Given the description of an element on the screen output the (x, y) to click on. 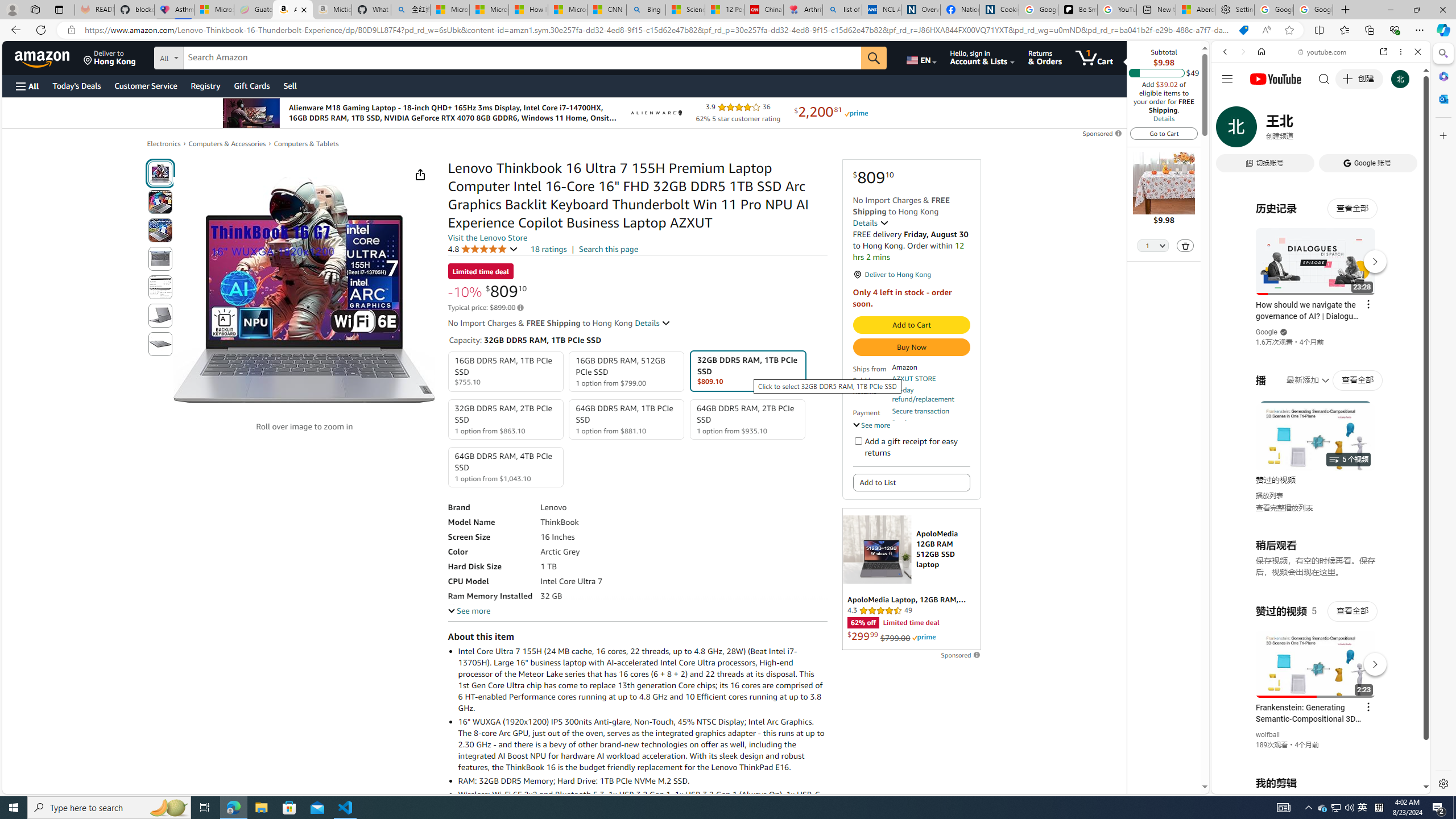
youtube.com (1322, 51)
Search Amazon (522, 57)
Google (1266, 331)
Learn more about Amazon pricing and savings (520, 307)
64GB DDR5 RAM, 1TB PCIe SSD 1 option from $881.10 (626, 418)
RAM: 32GB DDR5 Memory; Hard Drive: 1TB PCIe NVMe M.2 SSD. (642, 780)
Delete (1184, 245)
Music (1320, 309)
